Given the description of an element on the screen output the (x, y) to click on. 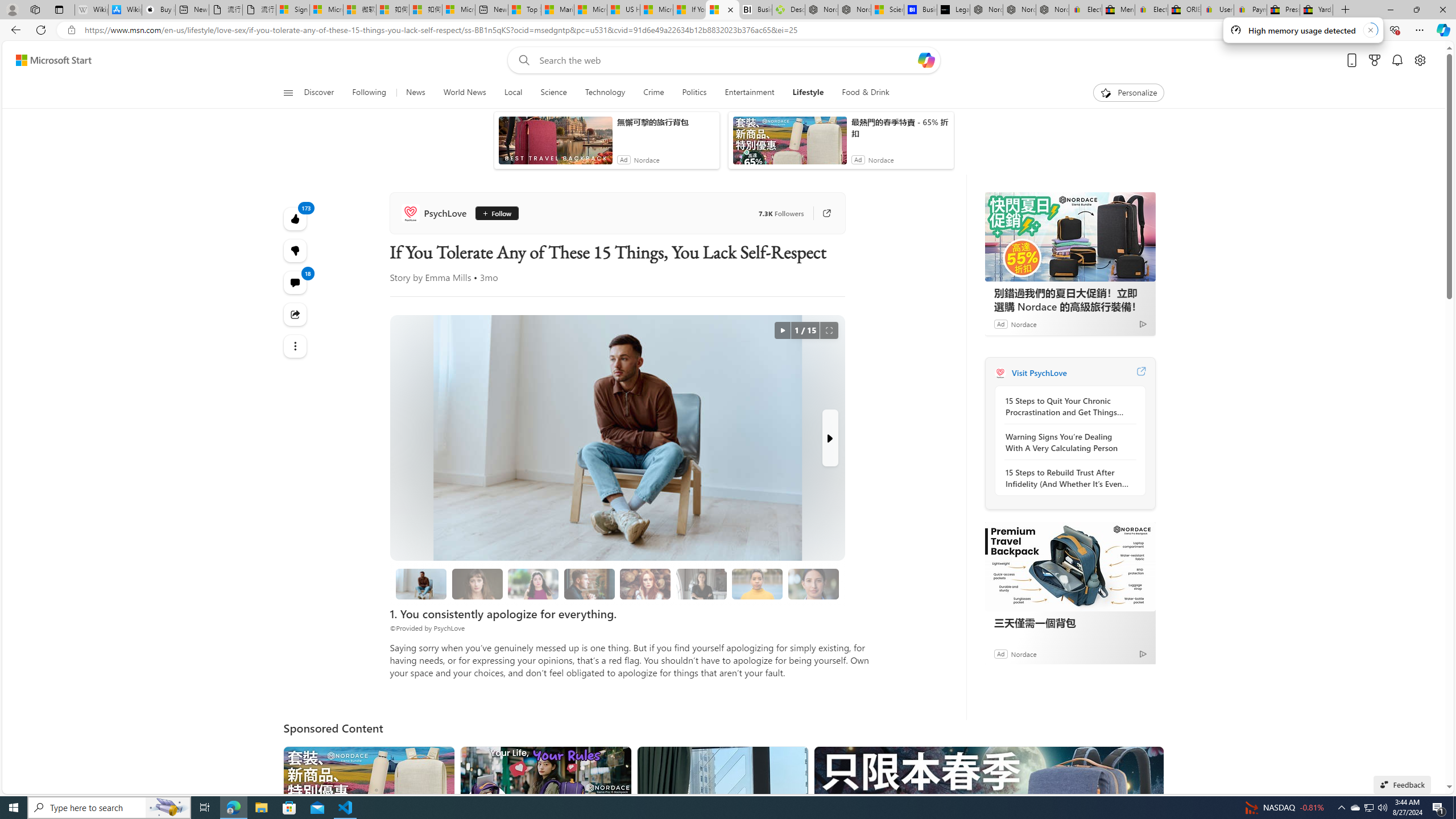
4. You can name and understand your feelings. (533, 583)
User Privacy Notice | eBay (1217, 9)
Buy iPad - Apple (158, 9)
Crime (653, 92)
Local (512, 92)
View comments 18 Comment (295, 282)
Descarga Driver Updater (788, 9)
Yard, Garden & Outdoor Living (1316, 9)
4. You can name and understand your feelings. (533, 583)
